Given the description of an element on the screen output the (x, y) to click on. 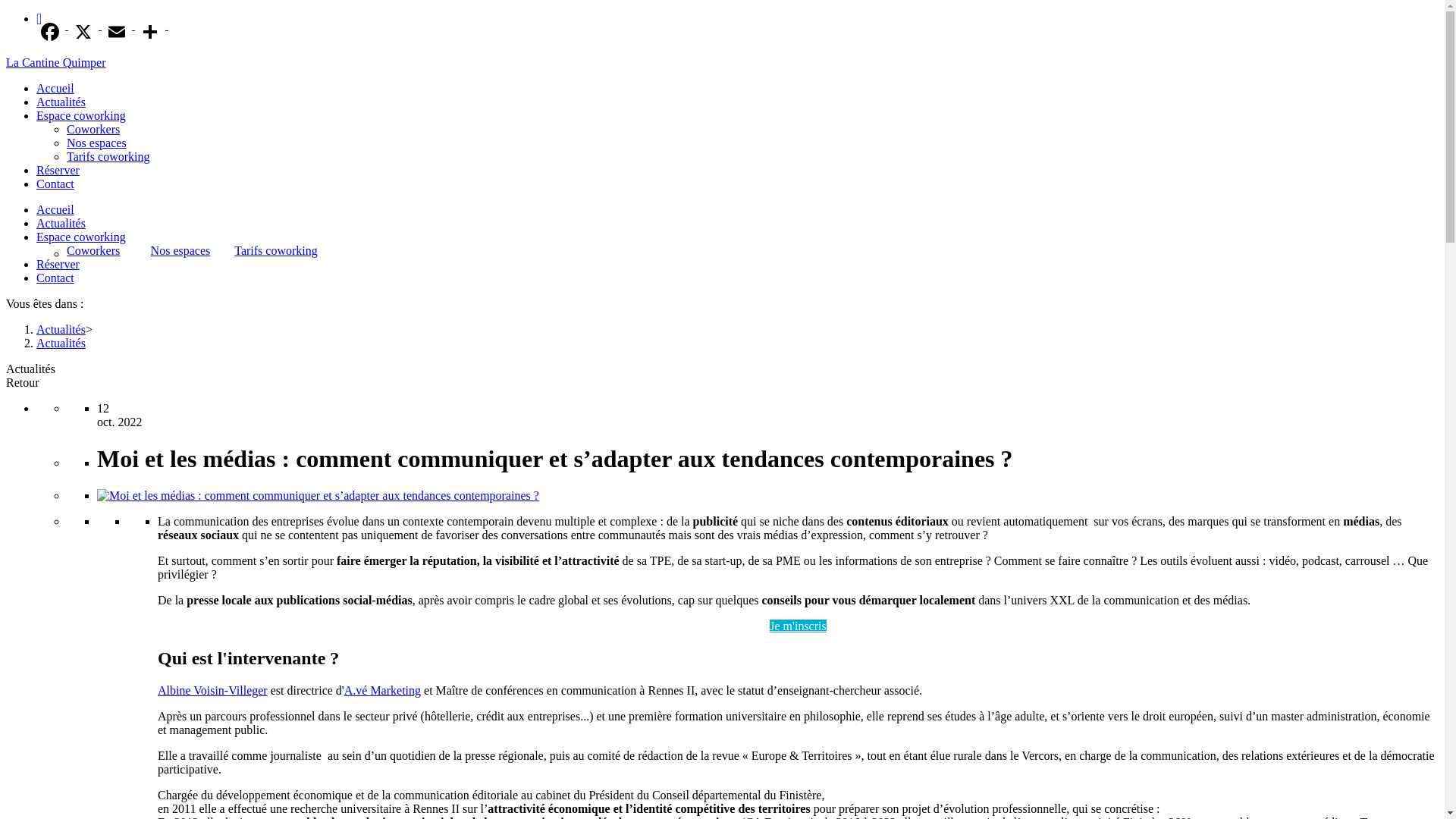
Retour Element type: text (22, 382)
Espace coworking Element type: text (80, 236)
Coworkers Element type: text (92, 250)
Accueil Element type: text (55, 209)
Tarifs coworking Element type: text (275, 250)
Coworkers Element type: text (92, 128)
  Element type: text (86, 31)
Contact Element type: text (55, 183)
Albine Voisin-Villeger Element type: text (212, 690)
Tarifs coworking Element type: text (108, 156)
  Element type: text (52, 31)
Nos espaces Element type: text (180, 250)
  Element type: text (152, 31)
  Element type: text (119, 31)
La Cantine Quimper Element type: text (56, 62)
Espace coworking Element type: text (80, 115)
Je m'inscris Element type: text (797, 625)
Accueil Element type: text (55, 87)
Partager Element type: hover (38, 18)
Contact Element type: text (55, 277)
Nos espaces Element type: text (96, 142)
